Given the description of an element on the screen output the (x, y) to click on. 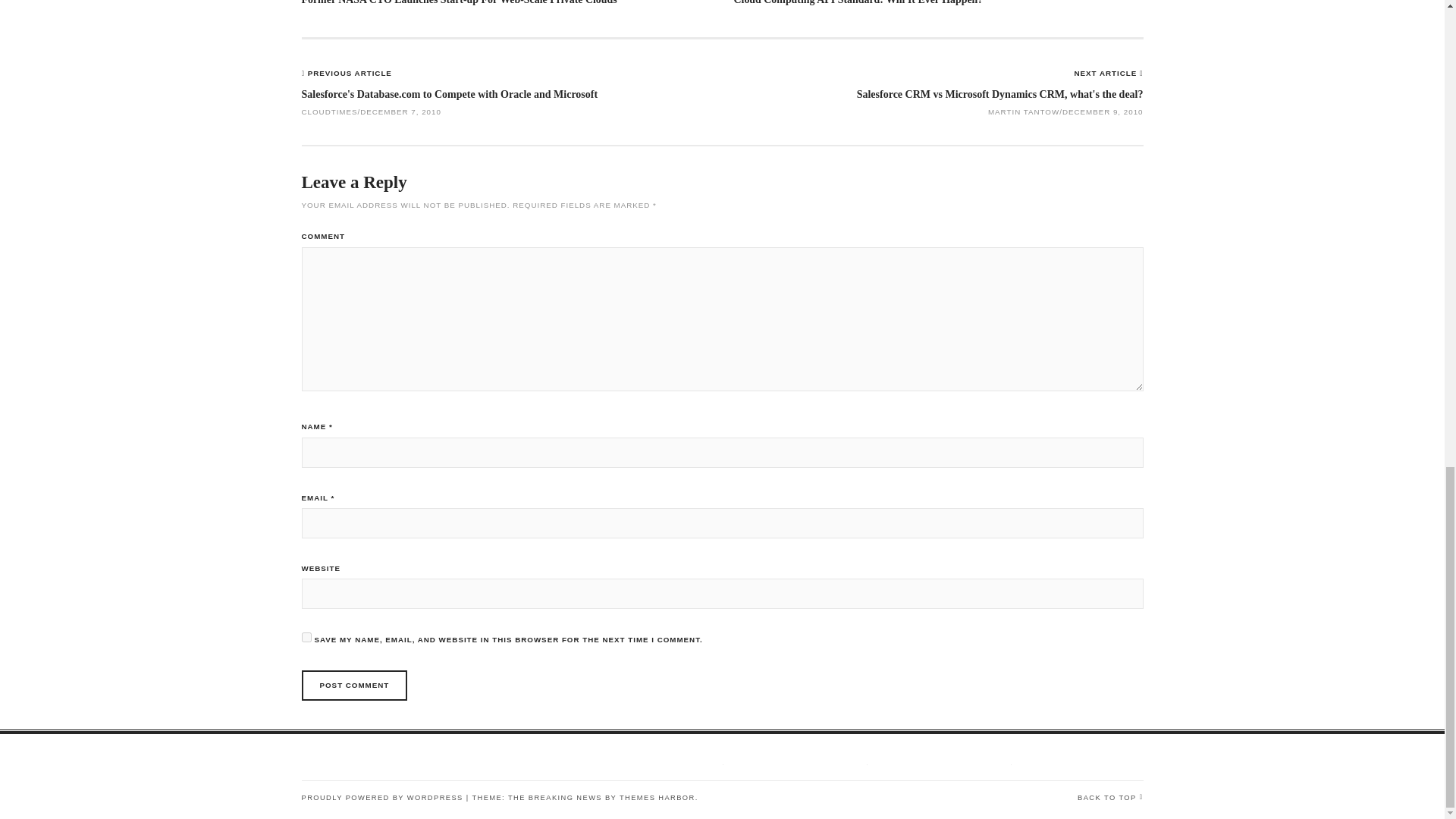
Post Comment (354, 685)
yes (306, 637)
